Given the description of an element on the screen output the (x, y) to click on. 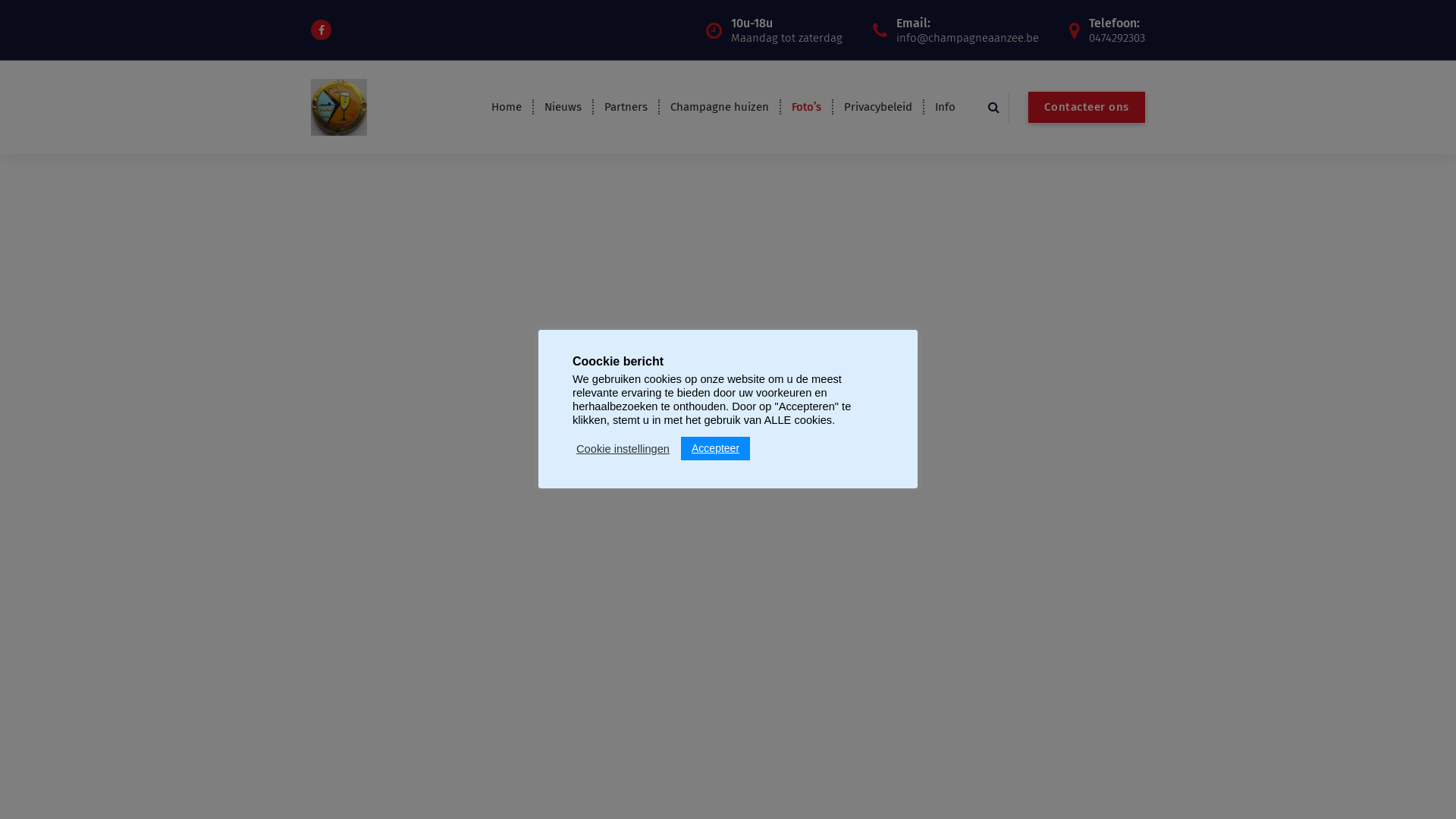
Cookie instellingen Element type: text (622, 448)
Email:
info@champagneaanzee.be Element type: text (967, 29)
10u-18u
Maandag tot zaterdag Element type: text (786, 29)
Home Element type: text (506, 106)
C
o
n
t
a
c
t
e
e
r
 o
n
s Element type: text (1086, 106)
Partners Element type: text (625, 106)
Info Element type: text (944, 106)
Champagne huizen Element type: text (719, 106)
Zoeken Element type: text (1111, 296)
Accepteer Element type: text (714, 448)
Nieuws Element type: text (562, 106)
Privacybeleid Element type: text (877, 106)
Telefoon:
0474292303 Element type: text (1116, 29)
